Given the description of an element on the screen output the (x, y) to click on. 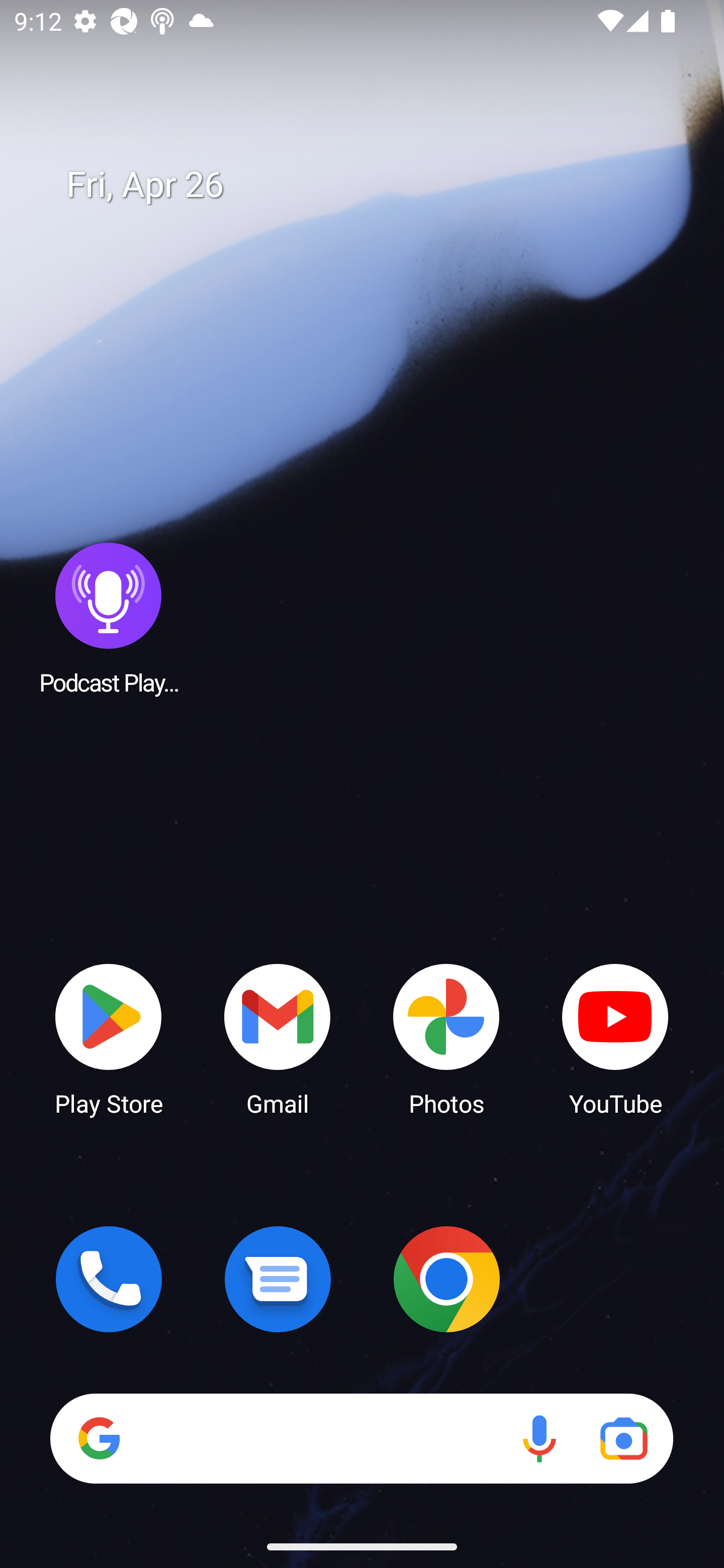
Fri, Apr 26 (375, 184)
Podcast Player (108, 617)
Play Store (108, 1038)
Gmail (277, 1038)
Photos (445, 1038)
YouTube (615, 1038)
Phone (108, 1279)
Messages (277, 1279)
Chrome (446, 1279)
Search Voice search Google Lens (361, 1438)
Voice search (539, 1438)
Google Lens (623, 1438)
